Given the description of an element on the screen output the (x, y) to click on. 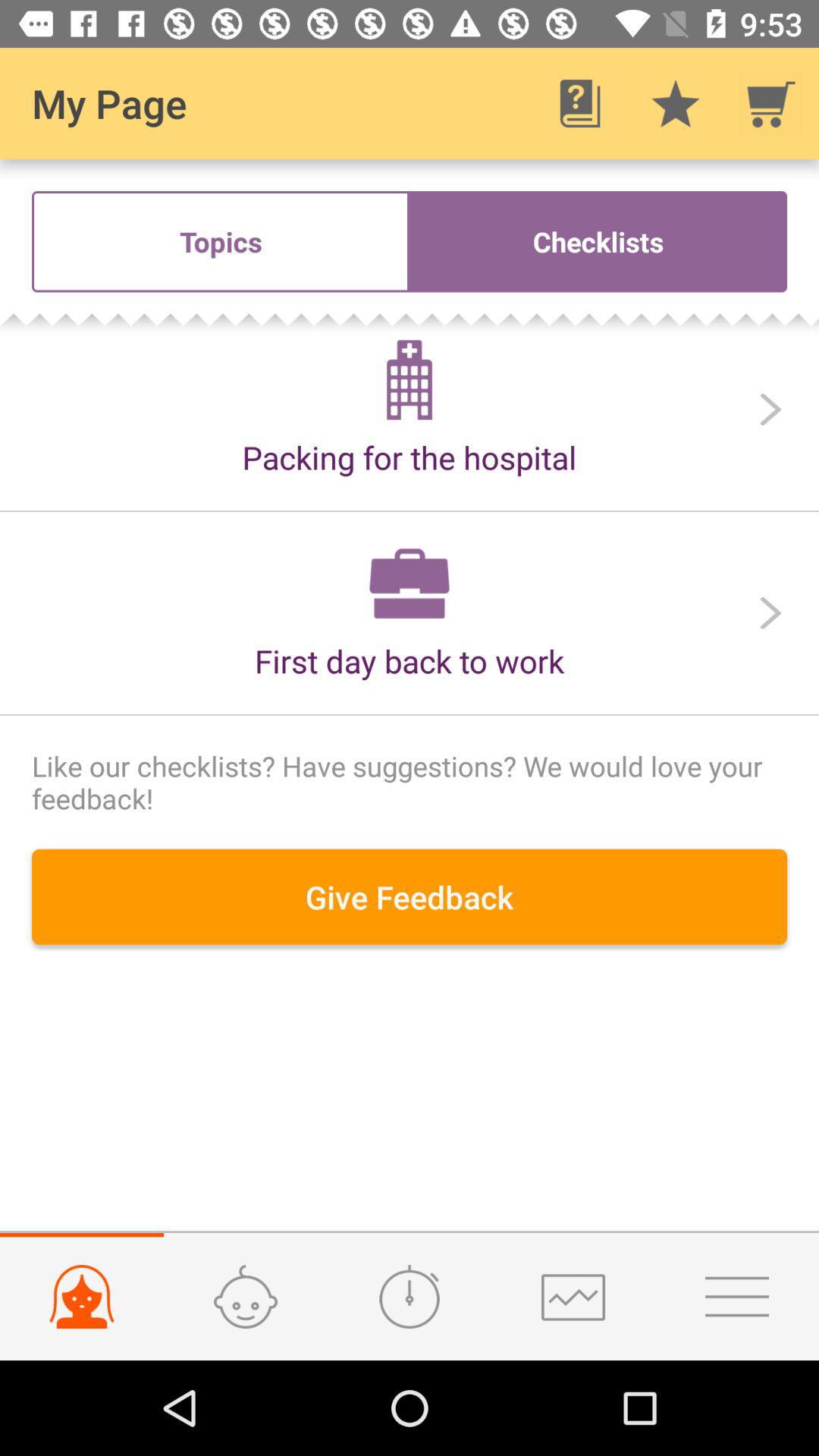
choose icon above checklists (675, 103)
